Given the description of an element on the screen output the (x, y) to click on. 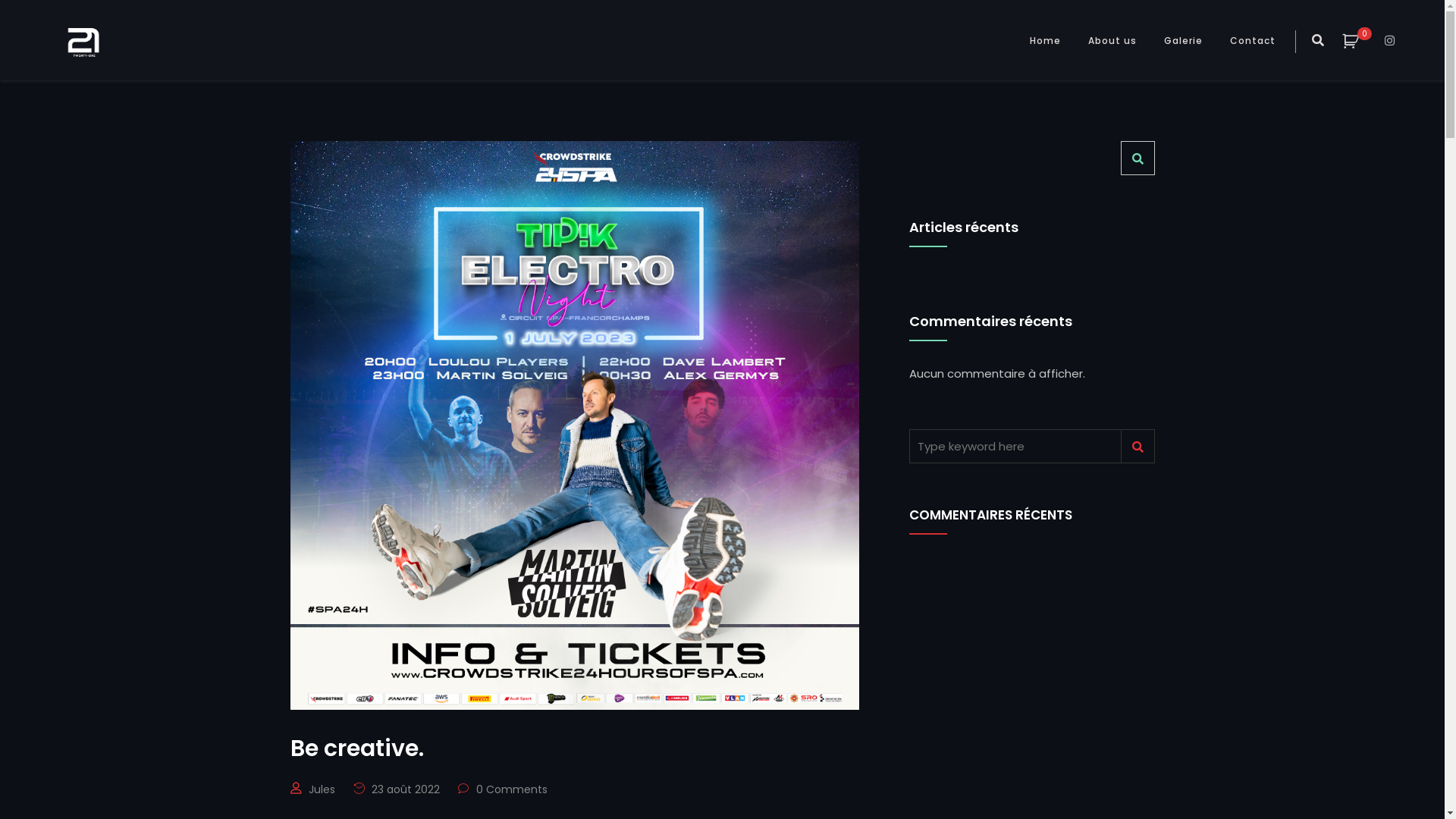
About us Element type: text (1112, 39)
Galerie Element type: text (1183, 39)
Contact Element type: text (1252, 39)
0 Element type: text (1359, 40)
Home Element type: text (1045, 39)
Jules Element type: text (320, 789)
Be creative. Element type: text (573, 748)
Rechercher Element type: text (1137, 158)
